Given the description of an element on the screen output the (x, y) to click on. 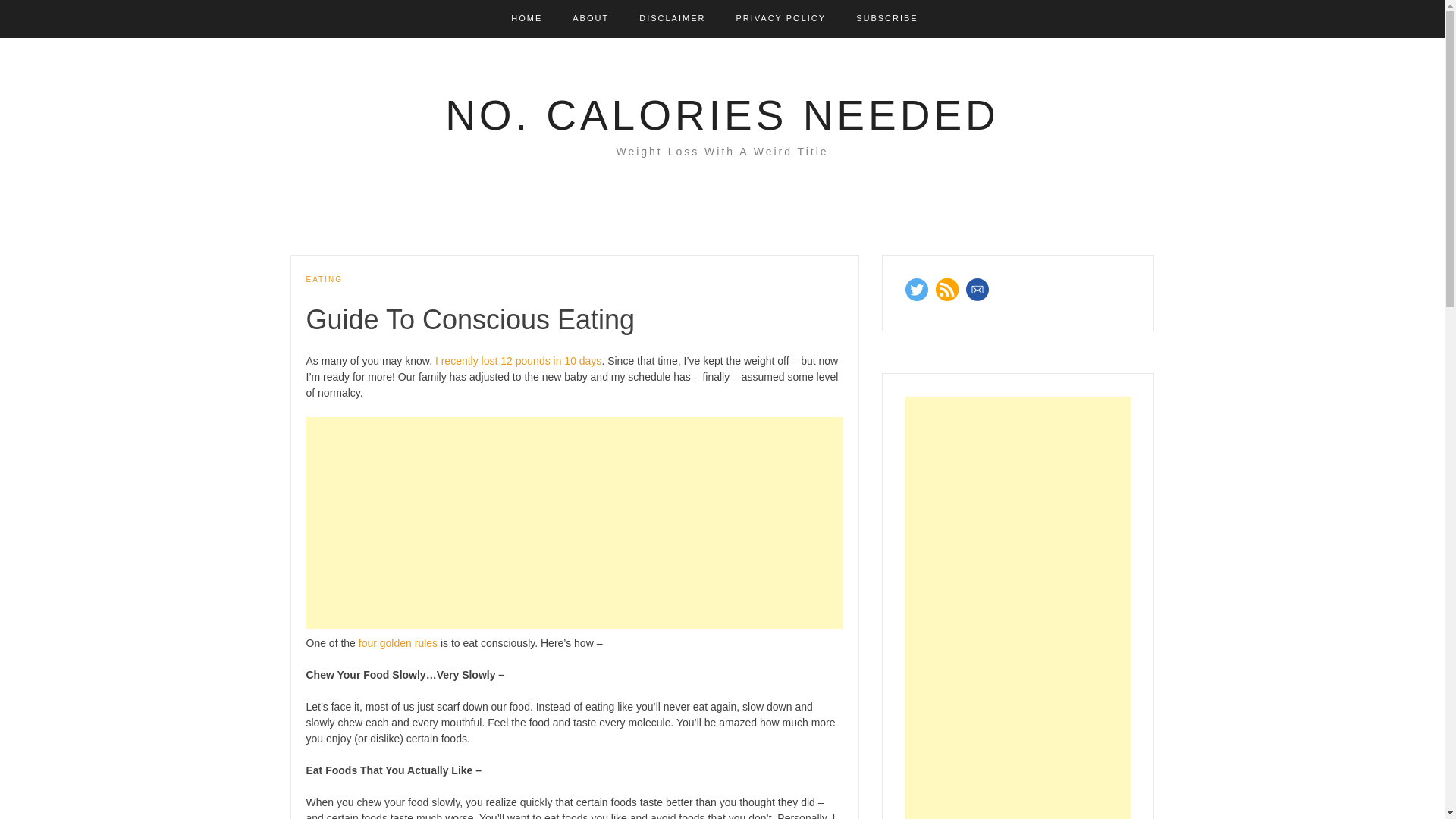
DISCLAIMER (671, 18)
ABOUT (590, 18)
EATING (323, 279)
PRIVACY POLICY (780, 18)
four golden rules (398, 643)
I recently lost 12 pounds in 10 days (518, 360)
NO. CALORIES NEEDED (721, 114)
SUBSCRIBE (887, 18)
Advertisement (574, 522)
